Given the description of an element on the screen output the (x, y) to click on. 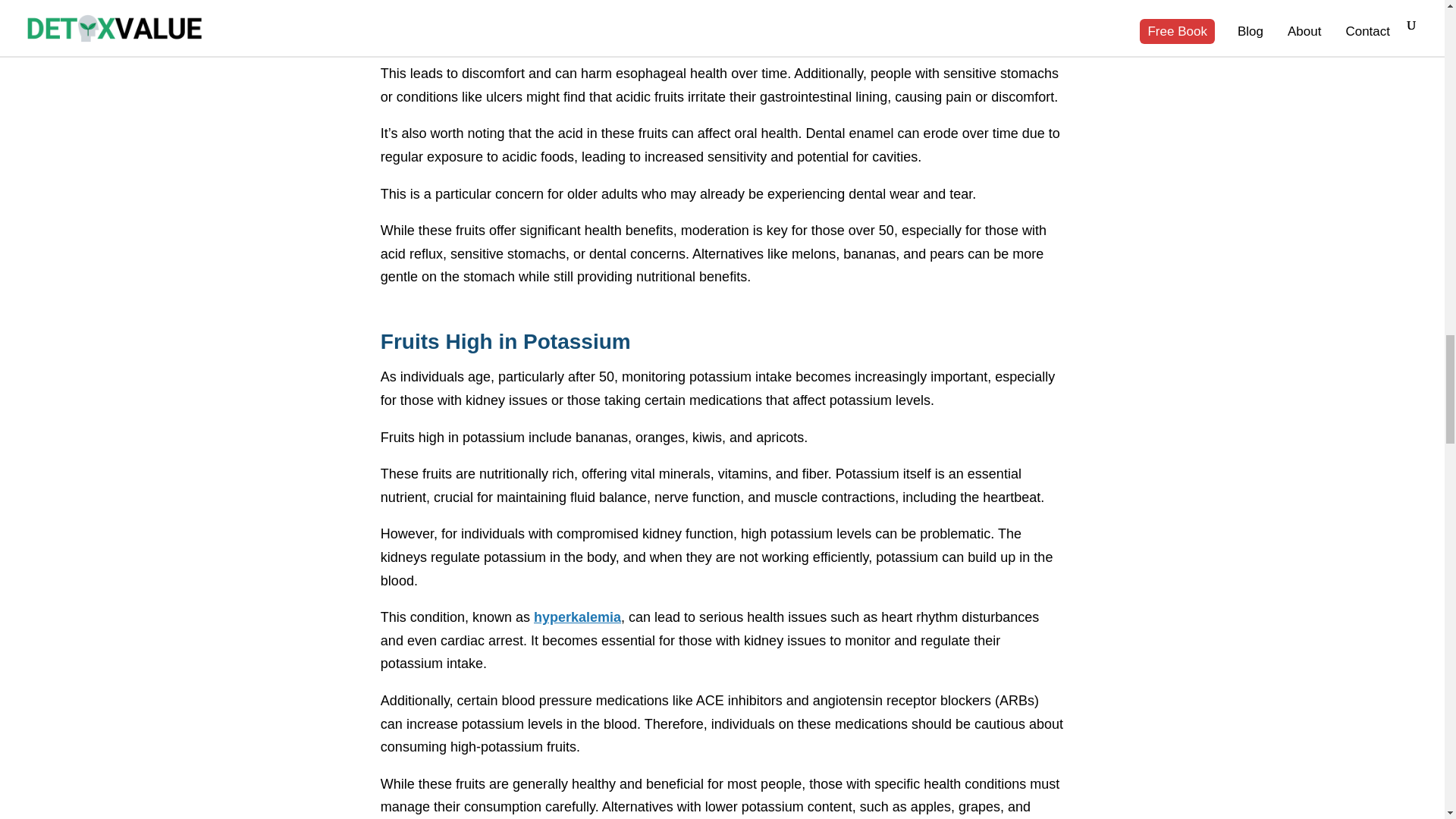
hyperkalemia (577, 616)
